Given the description of an element on the screen output the (x, y) to click on. 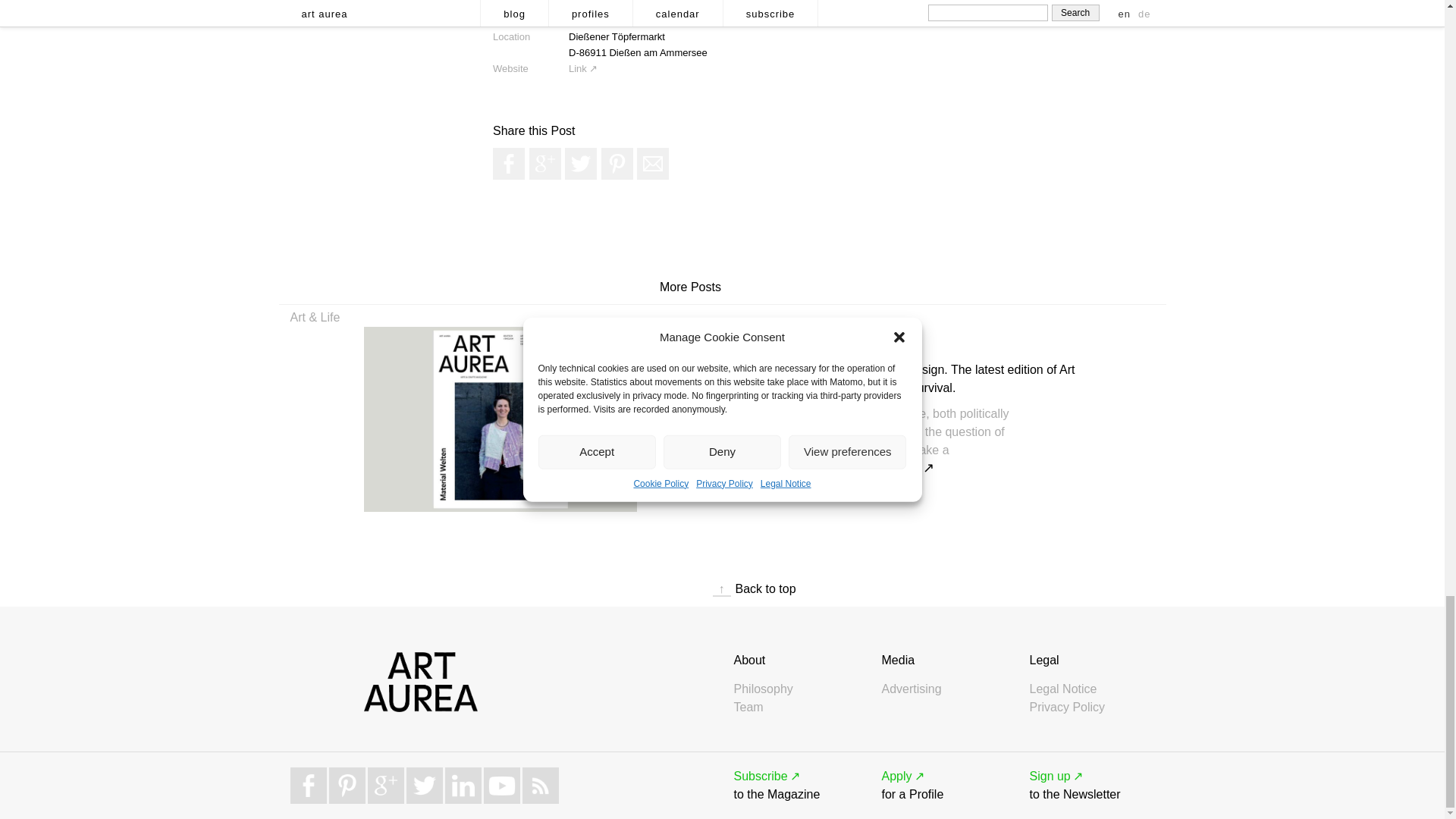
Facebook (508, 163)
Link (582, 68)
Pinterest (617, 163)
Twitter (580, 163)
